Given the description of an element on the screen output the (x, y) to click on. 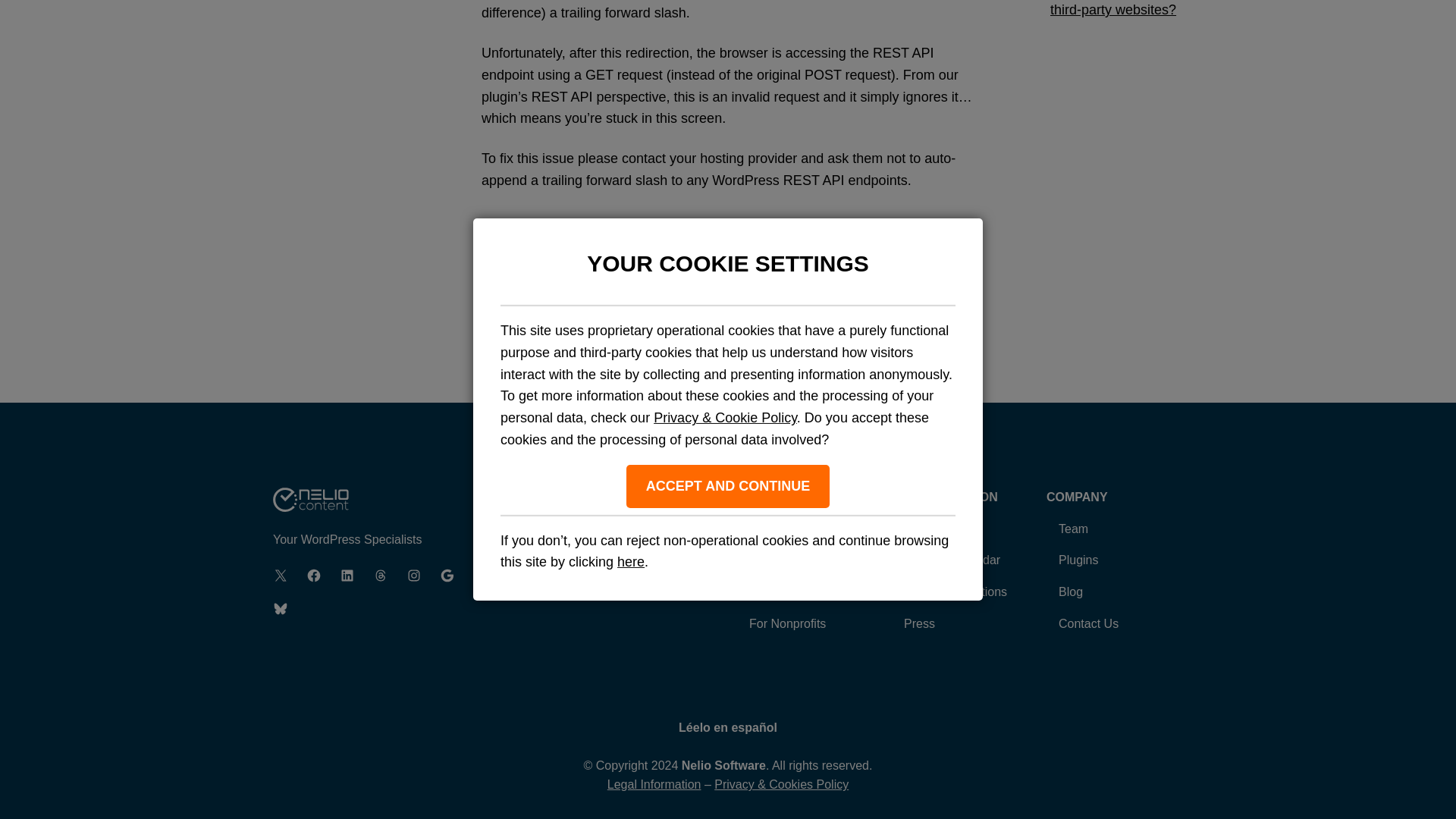
Can I share content from third-party websites? (1124, 8)
